Given the description of an element on the screen output the (x, y) to click on. 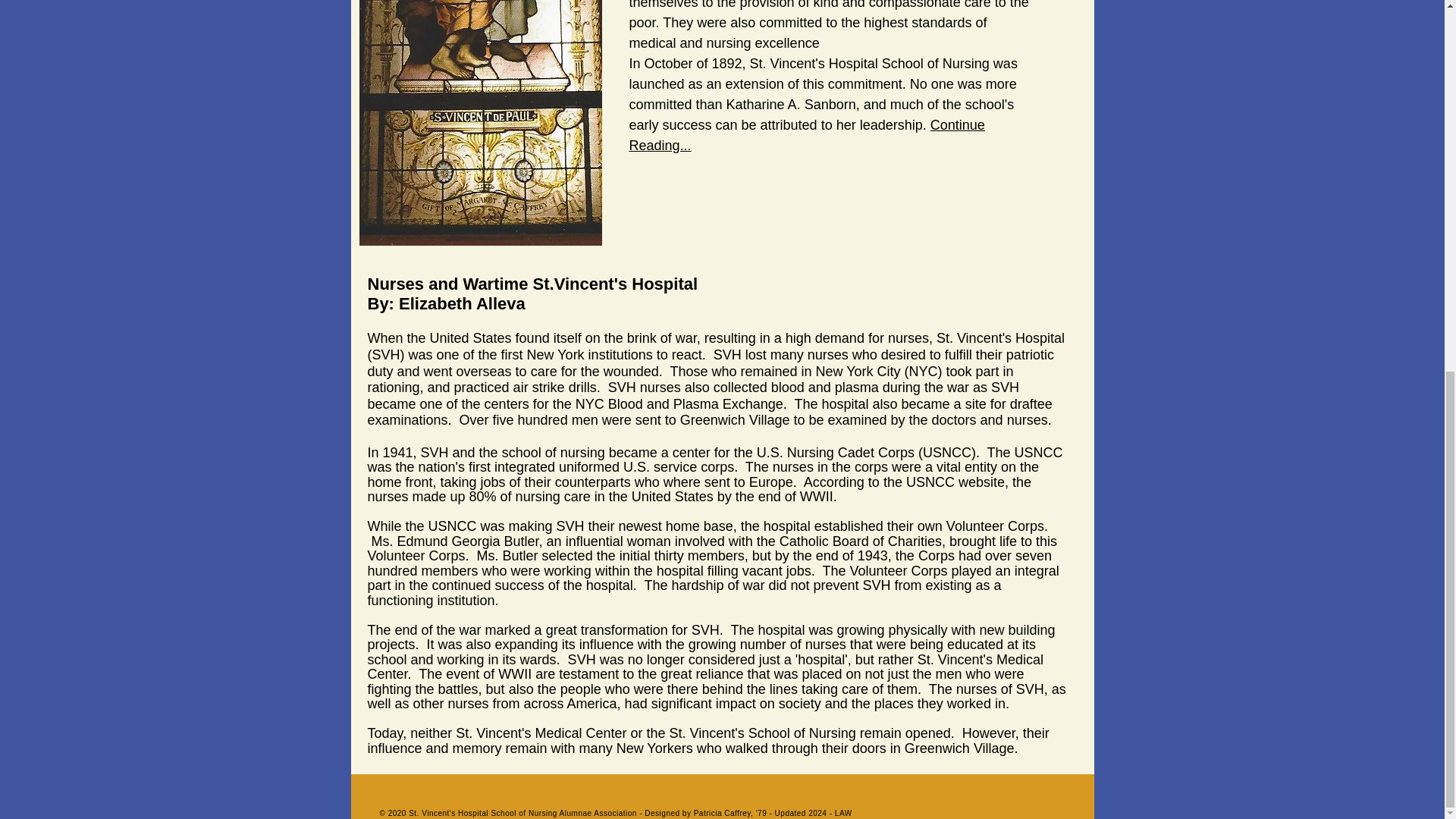
Continue Reading... (806, 135)
